Given the description of an element on the screen output the (x, y) to click on. 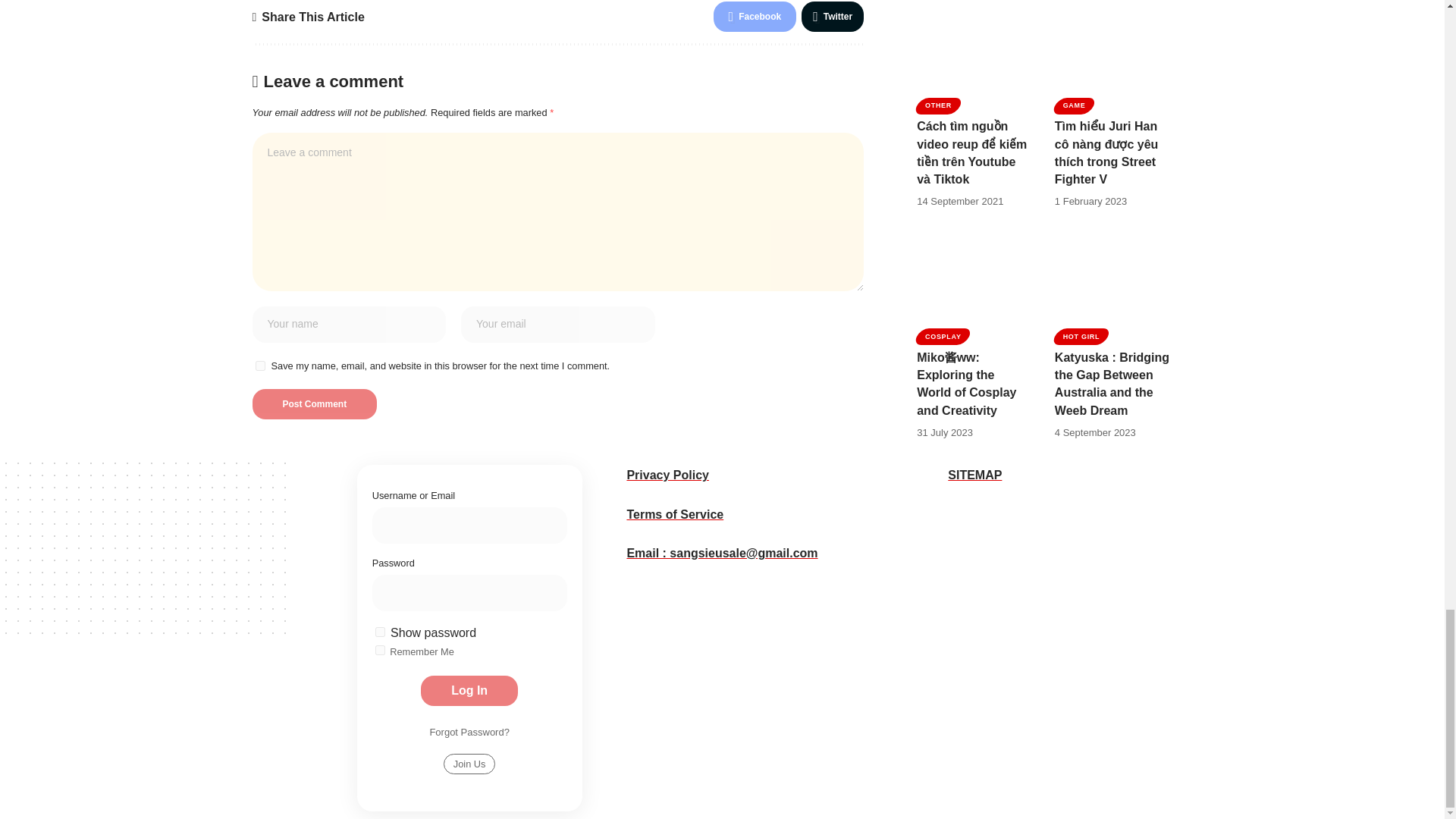
Log In (721, 558)
Post Comment (314, 259)
on (608, 500)
yes (259, 221)
on (608, 518)
